Given the description of an element on the screen output the (x, y) to click on. 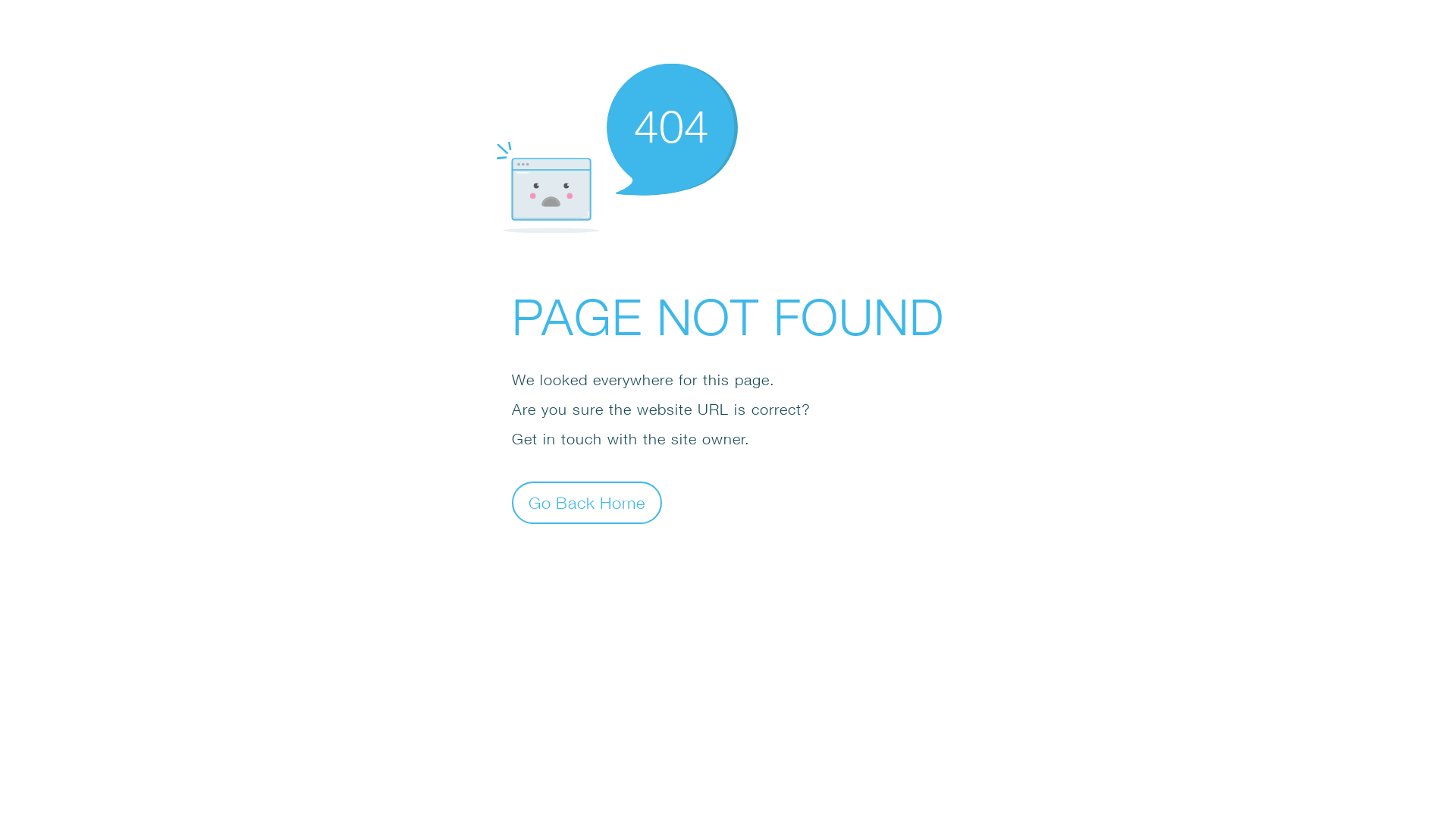
Go Back Home Element type: text (586, 502)
